Given the description of an element on the screen output the (x, y) to click on. 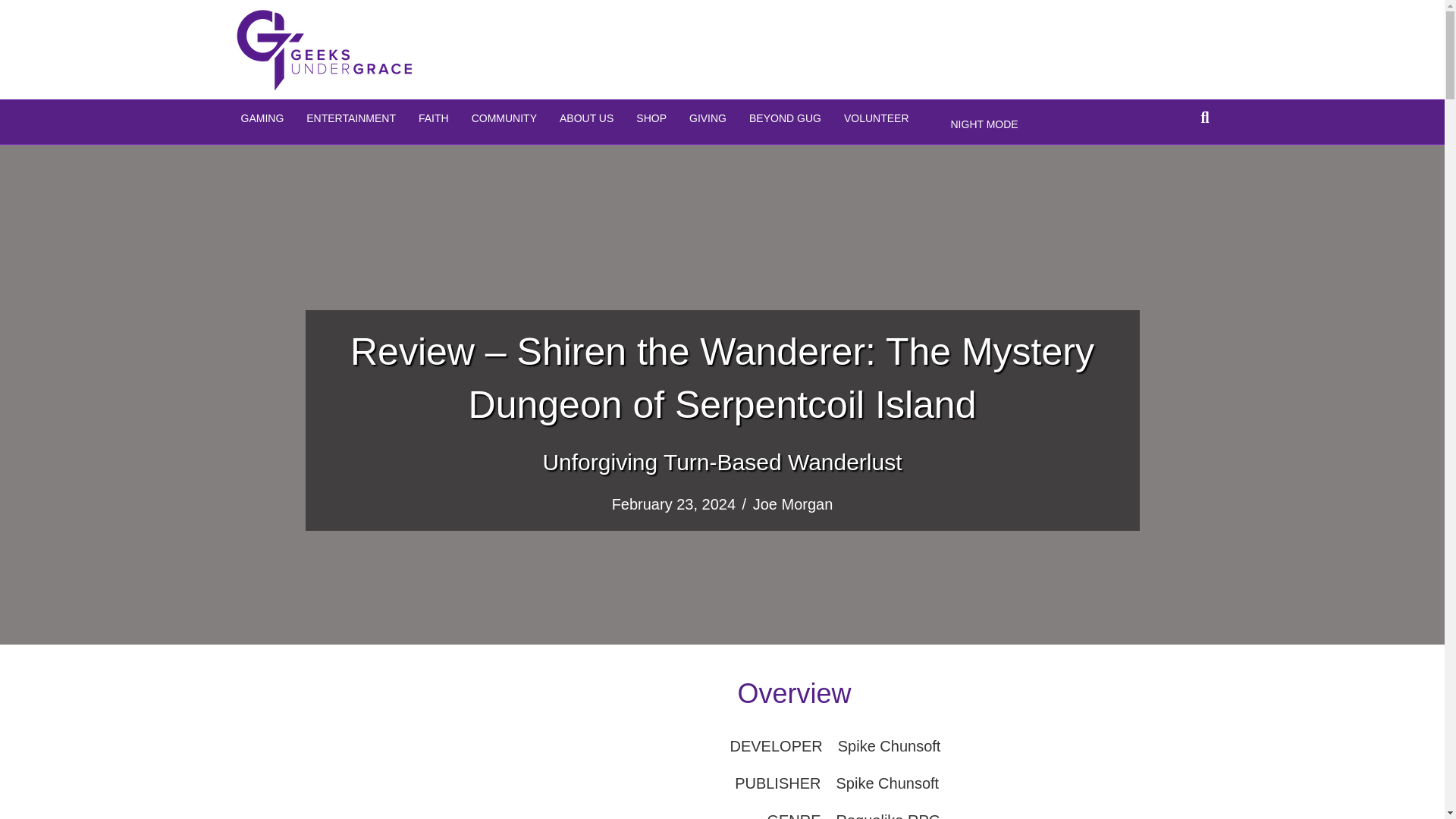
ENTERTAINMENT (351, 118)
SHOP (651, 118)
BEYOND GUG (785, 118)
FAITH (433, 118)
Joe Morgan (792, 504)
VOLUNTEER (876, 118)
GIVING (708, 118)
COMMUNITY (504, 118)
NIGHT MODE (984, 125)
GAMING (261, 118)
ABOUT US (586, 118)
